Given the description of an element on the screen output the (x, y) to click on. 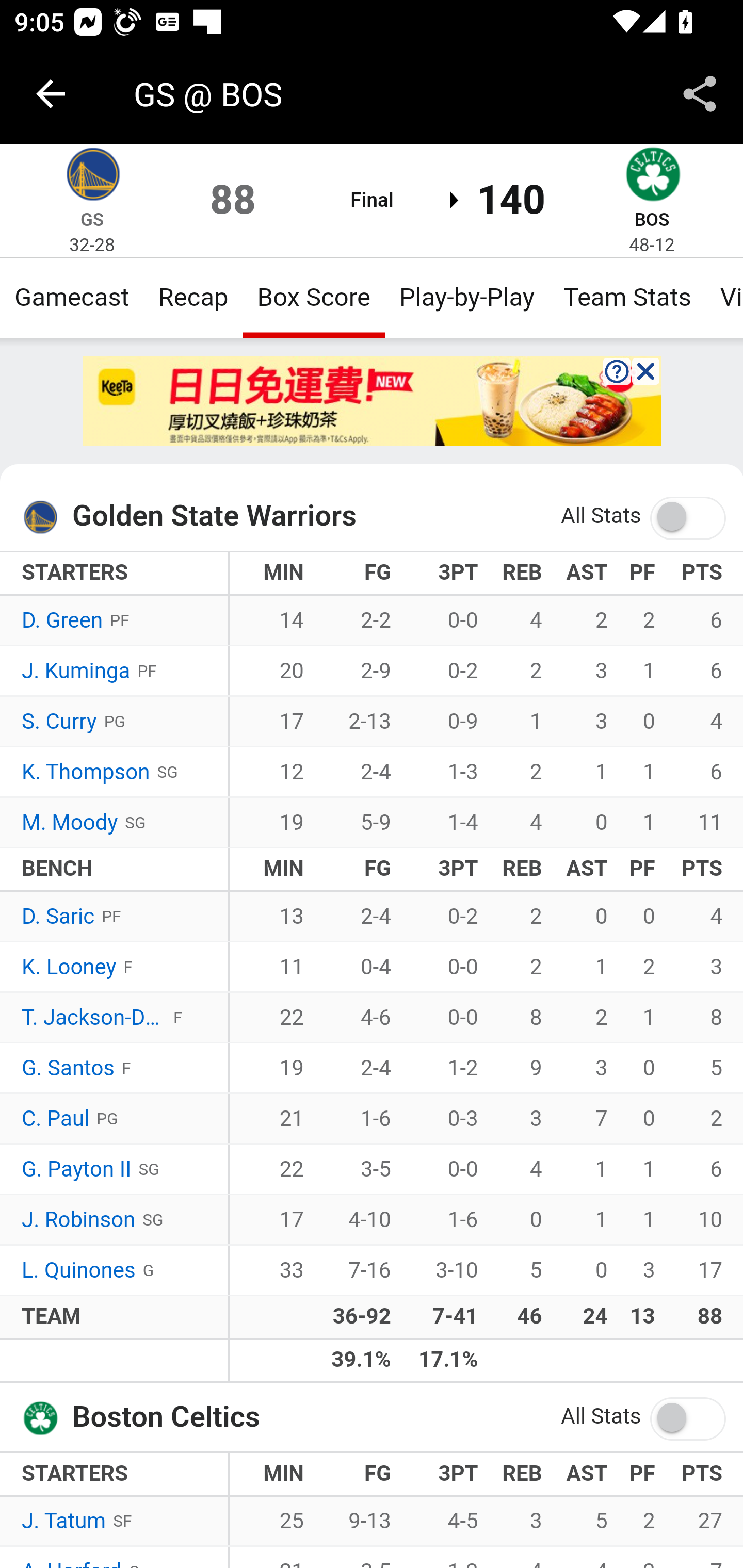
Navigate up (50, 93)
Share (699, 93)
Golden State Warriors (91, 177)
Boston Celtics (651, 177)
GS (91, 219)
BOS (651, 219)
Gamecast (72, 296)
Recap (192, 296)
Box Score (314, 296)
Play-by-Play (466, 296)
Team Stats (627, 296)
Golden State Warriors (46, 517)
D. Green (62, 621)
J. Kuminga (76, 671)
S. Curry (59, 722)
K. Thompson (86, 772)
M. Moody (69, 823)
D. Saric (58, 916)
K. Looney (69, 968)
T. Jackson-Davis (94, 1018)
G. Santos (68, 1068)
C. Paul (55, 1118)
G. Payton II (76, 1170)
J. Robinson (79, 1220)
L. Quinones (79, 1270)
Boston Celtics (46, 1416)
J. Tatum (63, 1521)
